Given the description of an element on the screen output the (x, y) to click on. 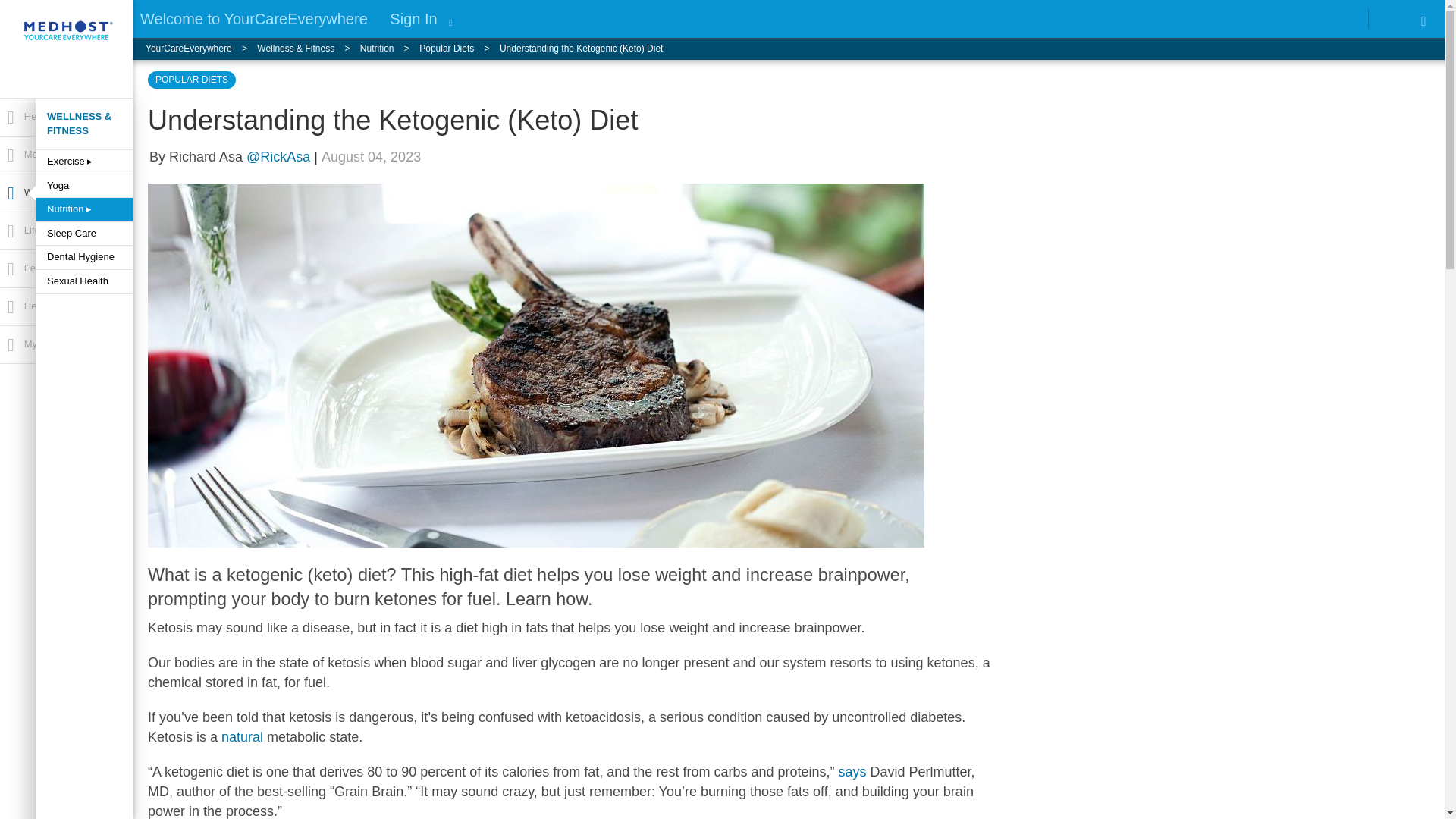
YourCareEverywhere (201, 48)
Nutrition (389, 48)
Popular Diets (459, 48)
Health Research (65, 116)
Sign In (413, 18)
